Given the description of an element on the screen output the (x, y) to click on. 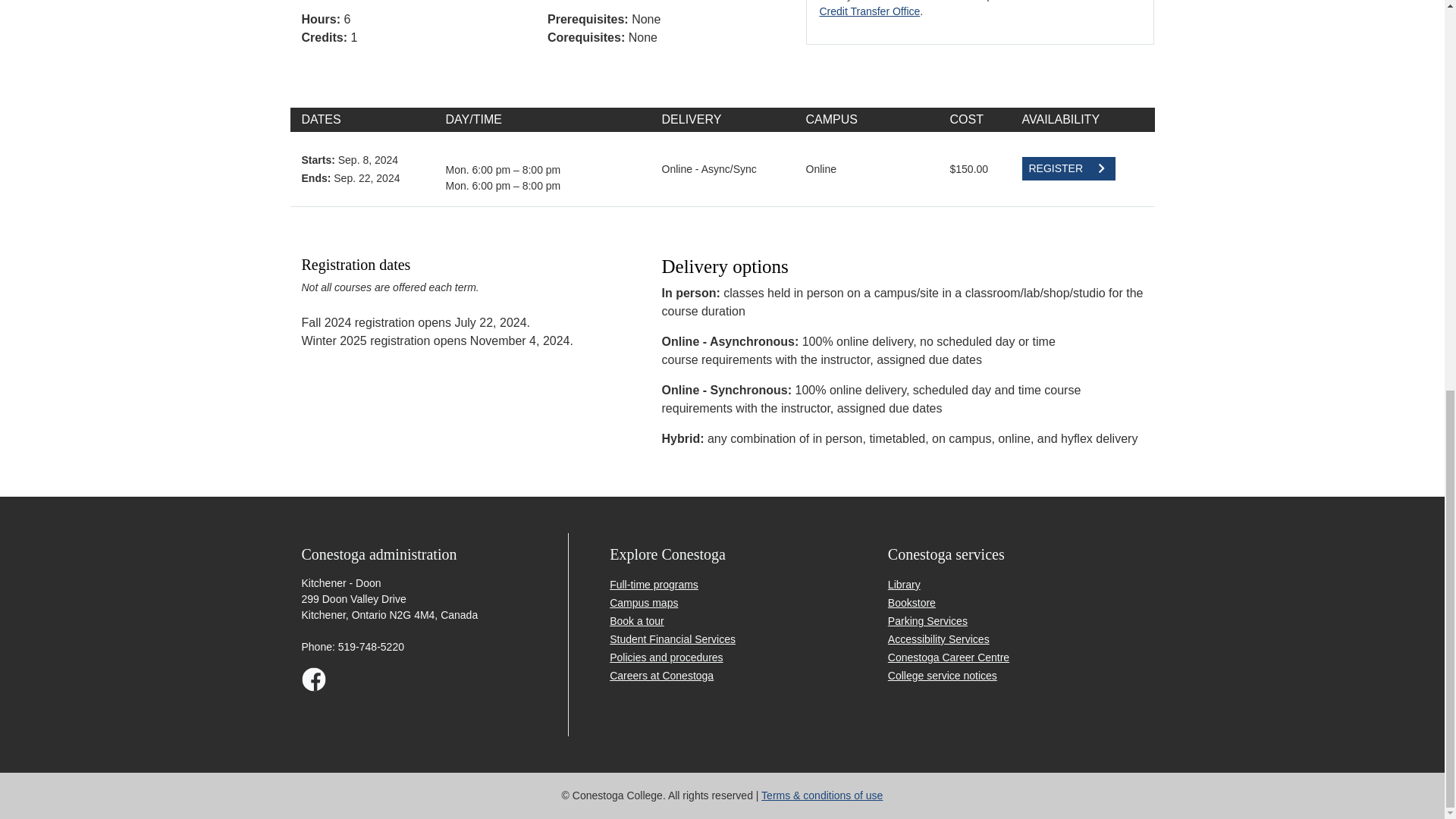
Conestoga Study Part-time on Facebook (313, 684)
REGISTER (1068, 168)
Credit Transfer Office (869, 10)
